Given the description of an element on the screen output the (x, y) to click on. 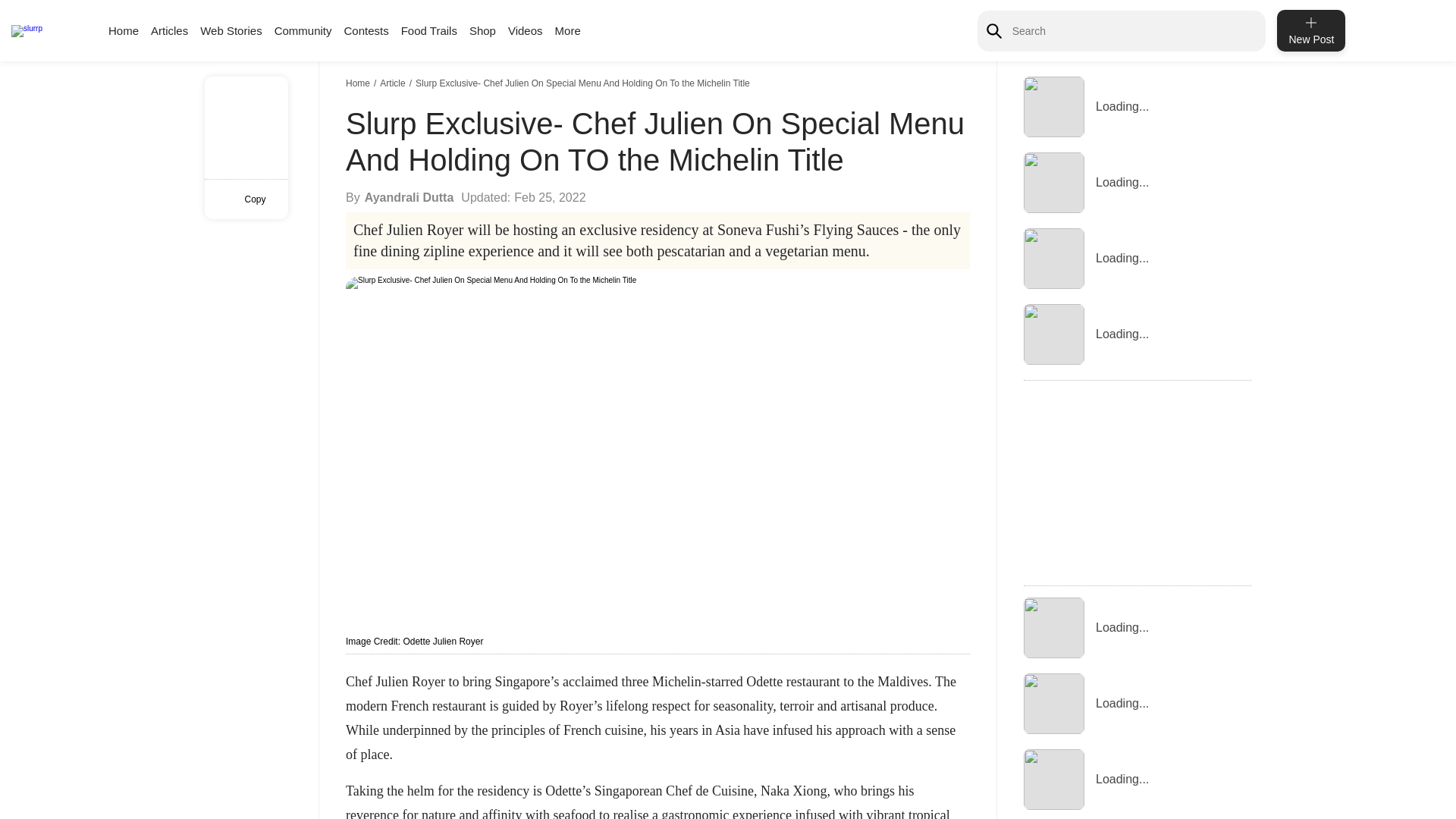
Article (394, 82)
Web Stories (231, 30)
Articles (169, 30)
Shop (482, 30)
Community (303, 30)
Food Trails (429, 30)
Contests (365, 30)
Home (122, 30)
Videos (525, 30)
Home (360, 82)
